Given the description of an element on the screen output the (x, y) to click on. 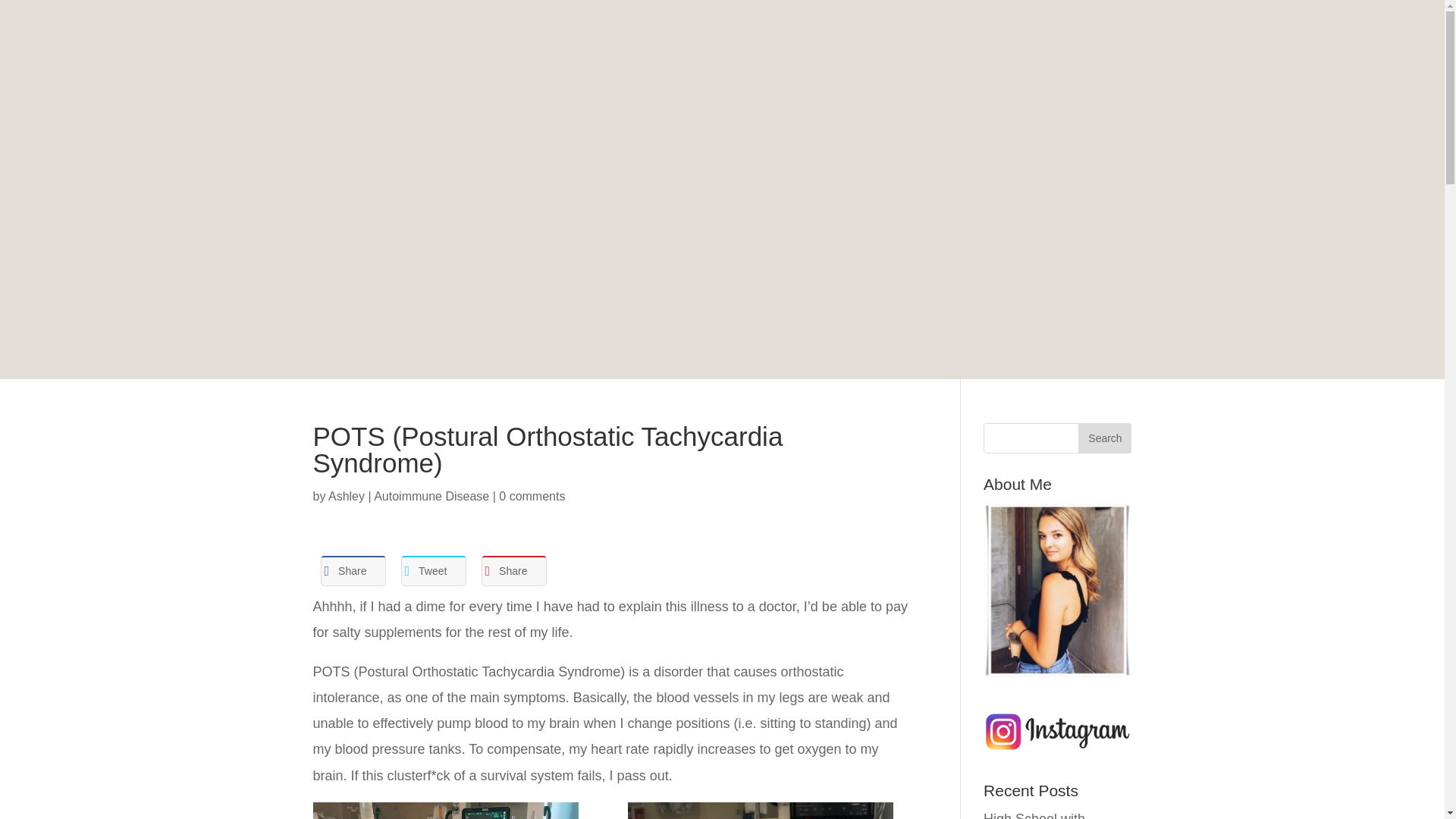
Posts by Ashley (347, 495)
Share on Twitter (432, 570)
Tweet (432, 570)
Search (1104, 438)
Share (513, 570)
Autoimmune Disease (431, 495)
Search (1104, 438)
Share on Facebook (352, 570)
0 comments (531, 495)
Ashley (347, 495)
